Given the description of an element on the screen output the (x, y) to click on. 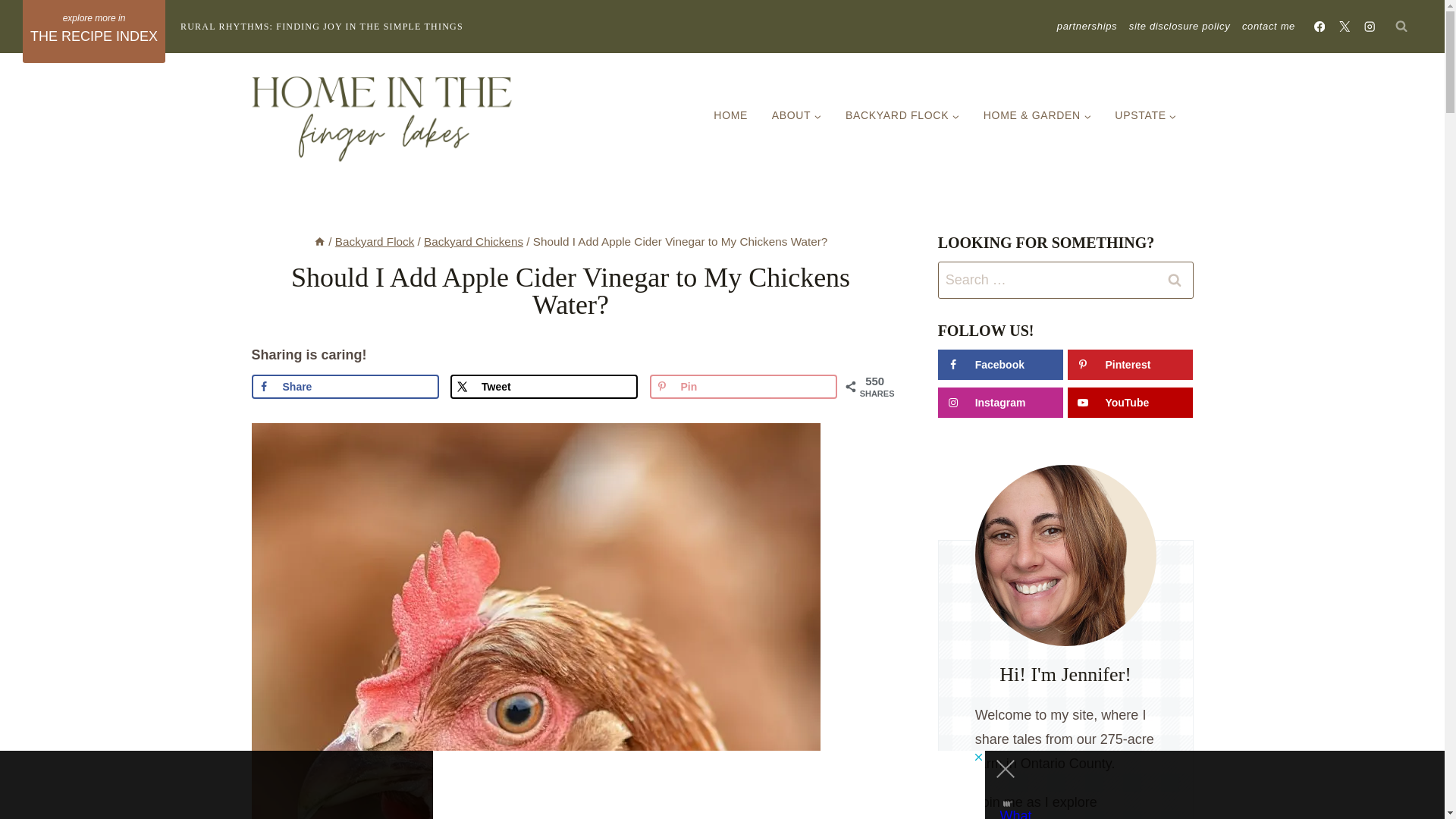
Backyard Flock (374, 241)
Follow on Pinterest (1129, 364)
Follow on Instagram (999, 402)
3rd party ad content (708, 785)
site disclosure policy (1179, 25)
ABOUT (796, 115)
THE RECIPE INDEX (94, 31)
UPSTATE (1146, 115)
HOME (730, 115)
contact me (1268, 25)
Search (1174, 279)
Share on X (543, 386)
Search (1174, 279)
BACKYARD FLOCK (901, 115)
Share on Facebook (345, 386)
